Given the description of an element on the screen output the (x, y) to click on. 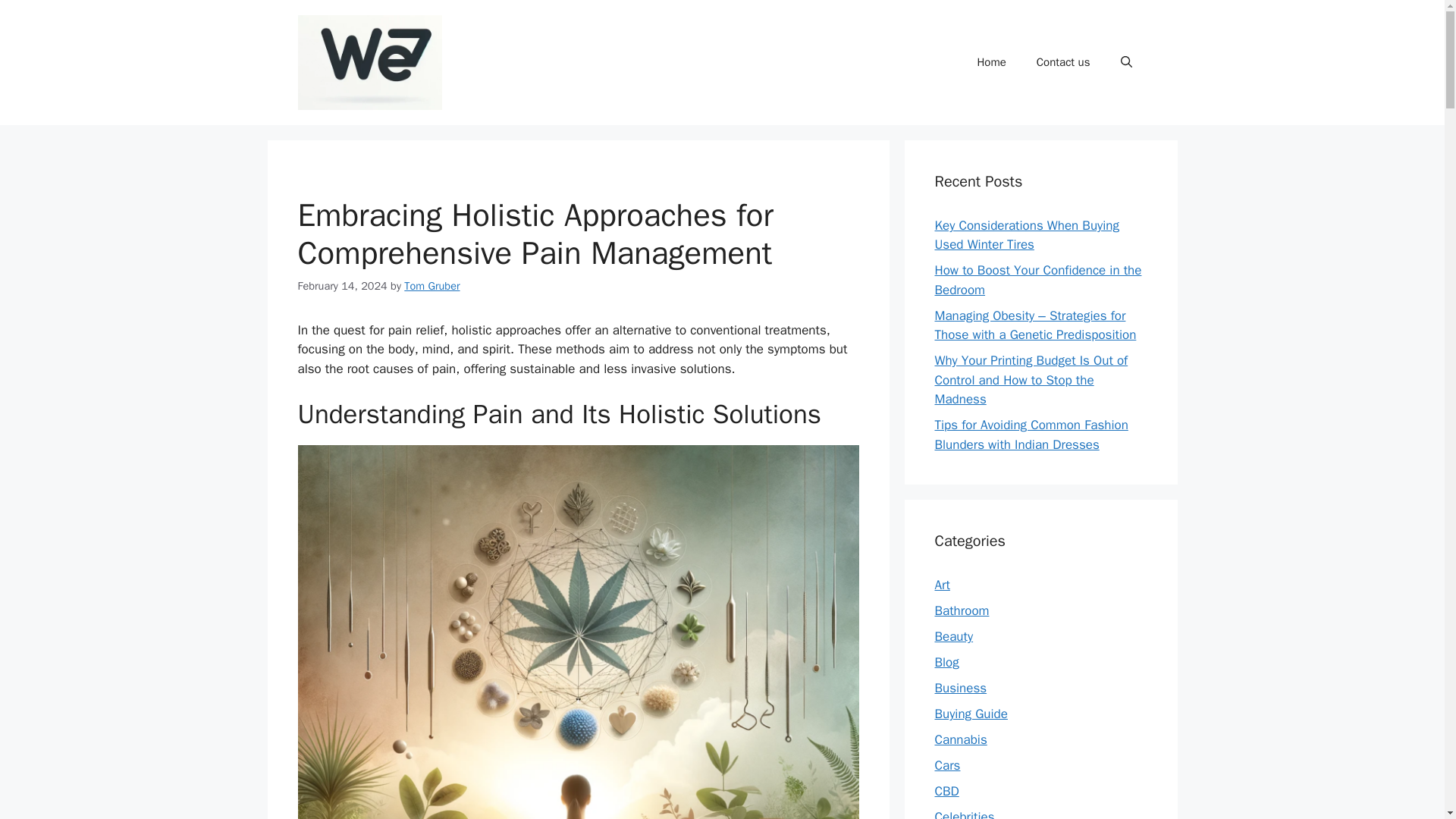
Tom Gruber (432, 285)
How to Boost Your Confidence in the Bedroom (1037, 280)
Home (990, 62)
Art (941, 584)
Key Considerations When Buying Used Winter Tires (1026, 235)
Blog (946, 662)
View all posts by Tom Gruber (432, 285)
Business (960, 688)
